Given the description of an element on the screen output the (x, y) to click on. 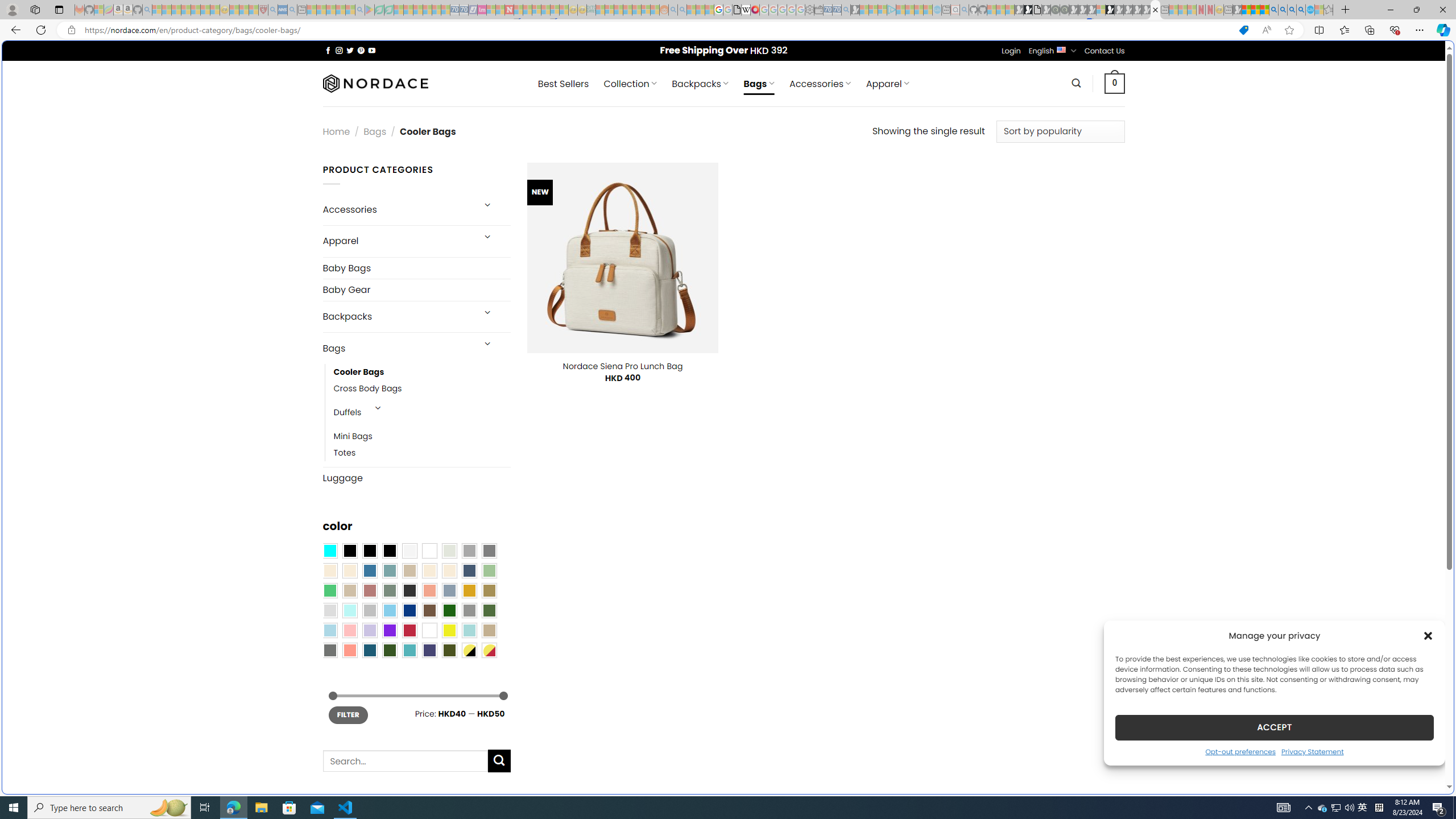
Light Gray (329, 610)
Clear (429, 550)
Blue Sage (389, 570)
  Best Sellers (563, 83)
MediaWiki (754, 9)
